Given the description of an element on the screen output the (x, y) to click on. 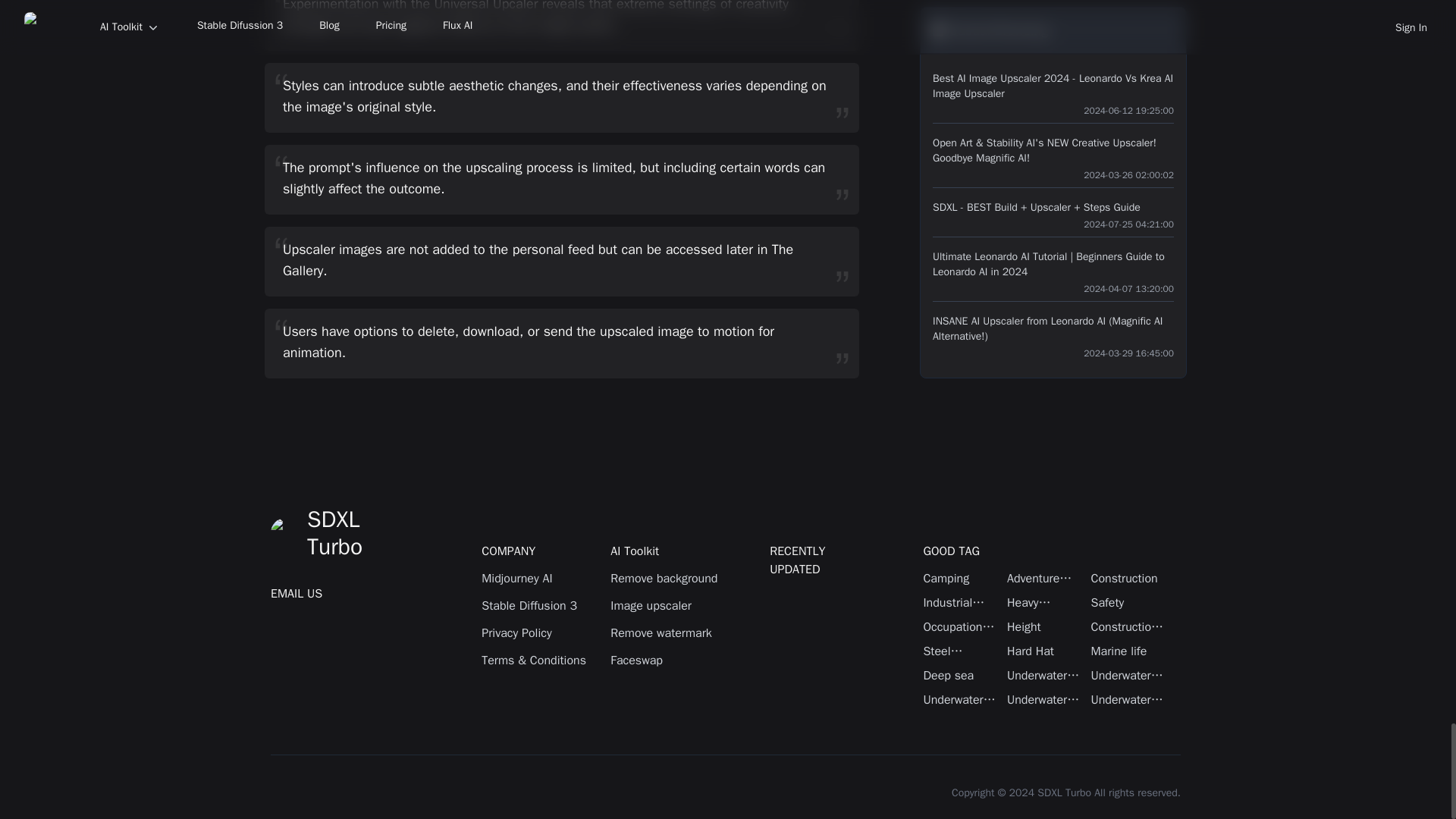
Underwater fantasy (960, 700)
Safety (1128, 602)
Construction (1128, 578)
Safety (1128, 602)
Occupational Safety (960, 627)
Camping (960, 578)
Heavy Machinery (1045, 602)
Faceswap (666, 660)
Image upscaler (666, 606)
Steel Structure (960, 651)
